Given the description of an element on the screen output the (x, y) to click on. 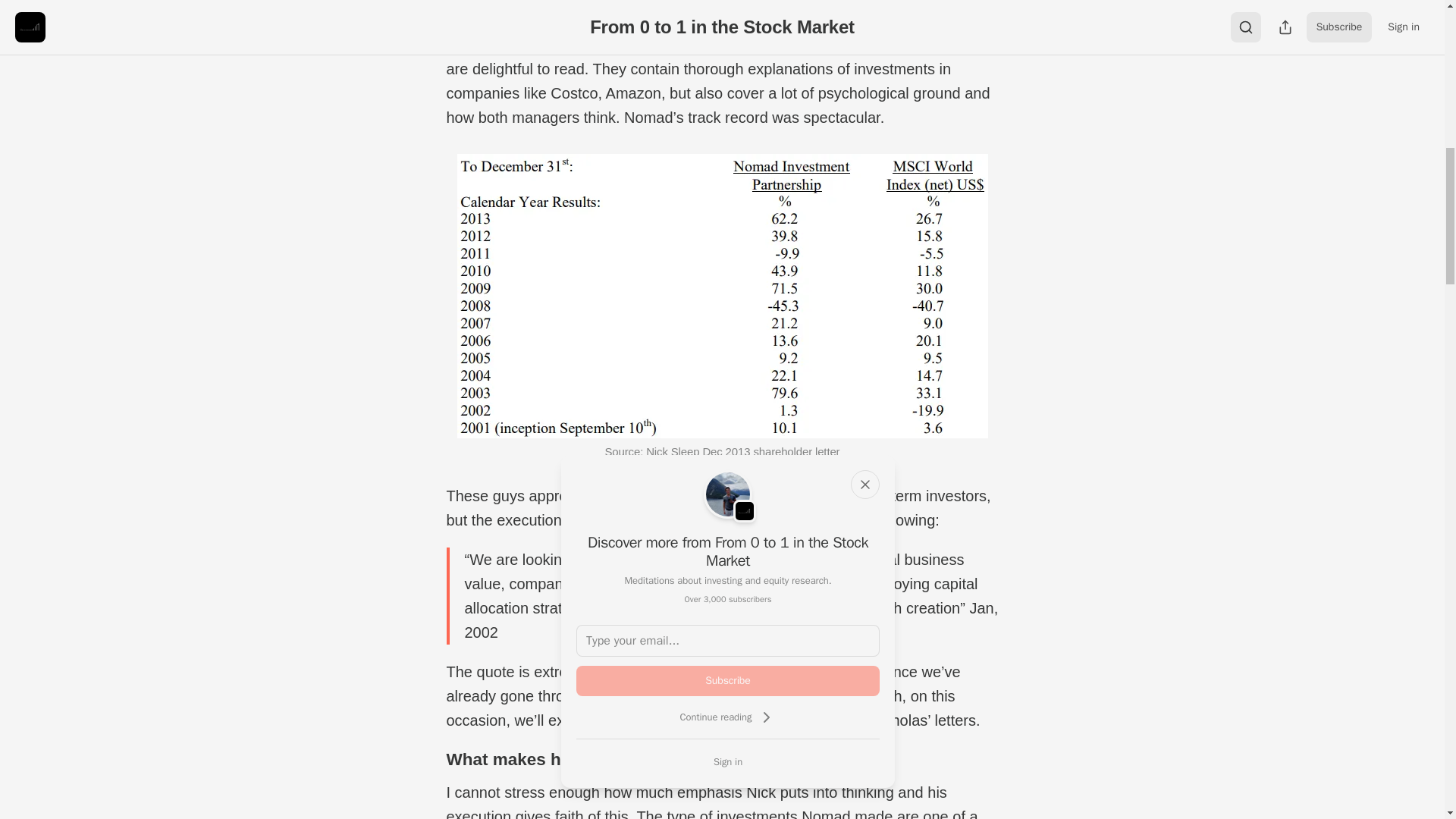
Subscribe (727, 680)
Sign in (727, 761)
